Given the description of an element on the screen output the (x, y) to click on. 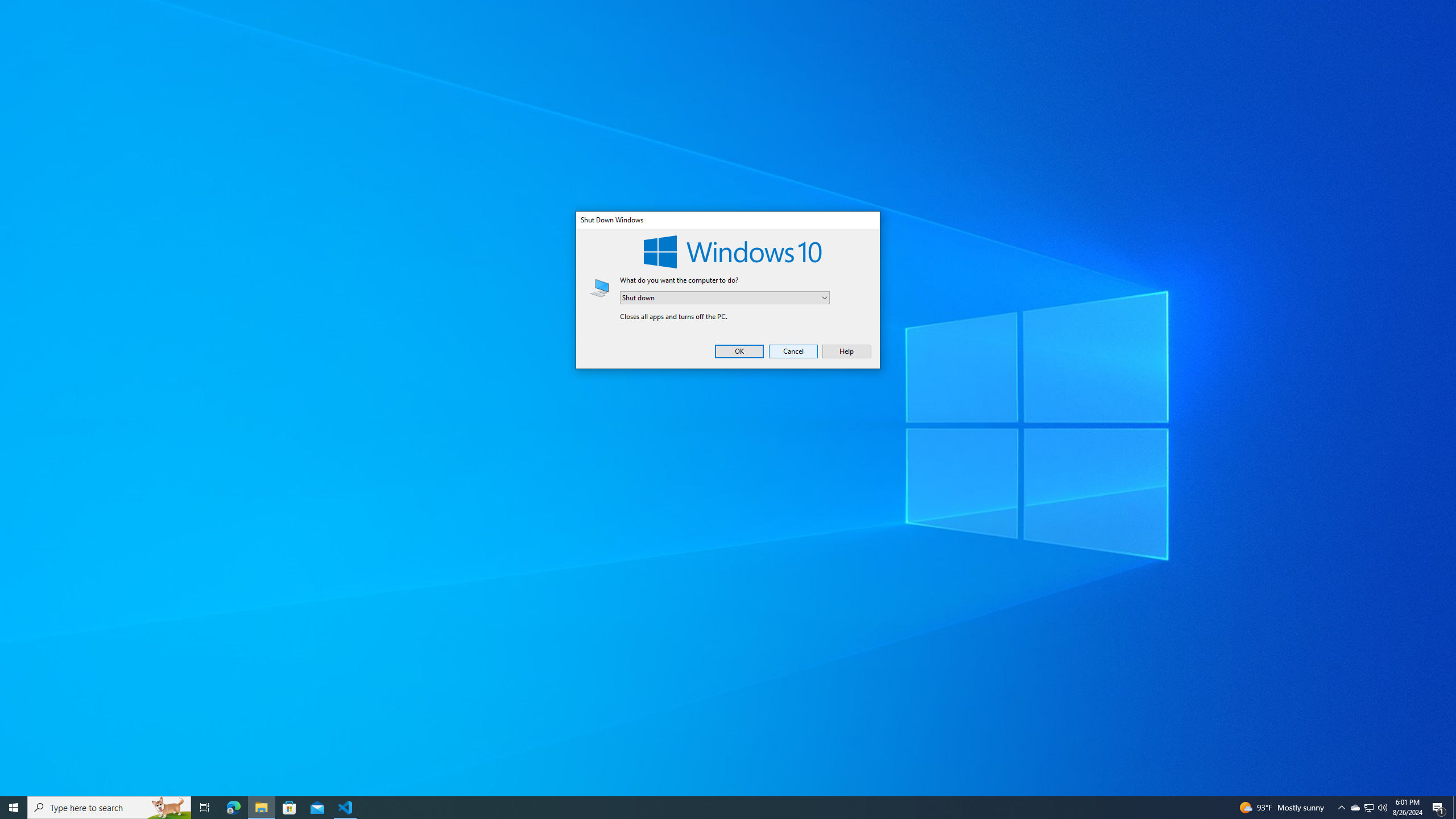
File Explorer - 1 running window (261, 807)
Microsoft Store (289, 807)
Q2790: 100% (1382, 807)
Type here to search (108, 807)
OK (739, 350)
Running applications (717, 807)
Visual Studio Code - 1 running window (345, 807)
Start (13, 807)
Task View (204, 807)
Show desktop (1454, 807)
Search highlights icon opens search home window (167, 807)
AutomationID: 2027 (1368, 807)
